Given the description of an element on the screen output the (x, y) to click on. 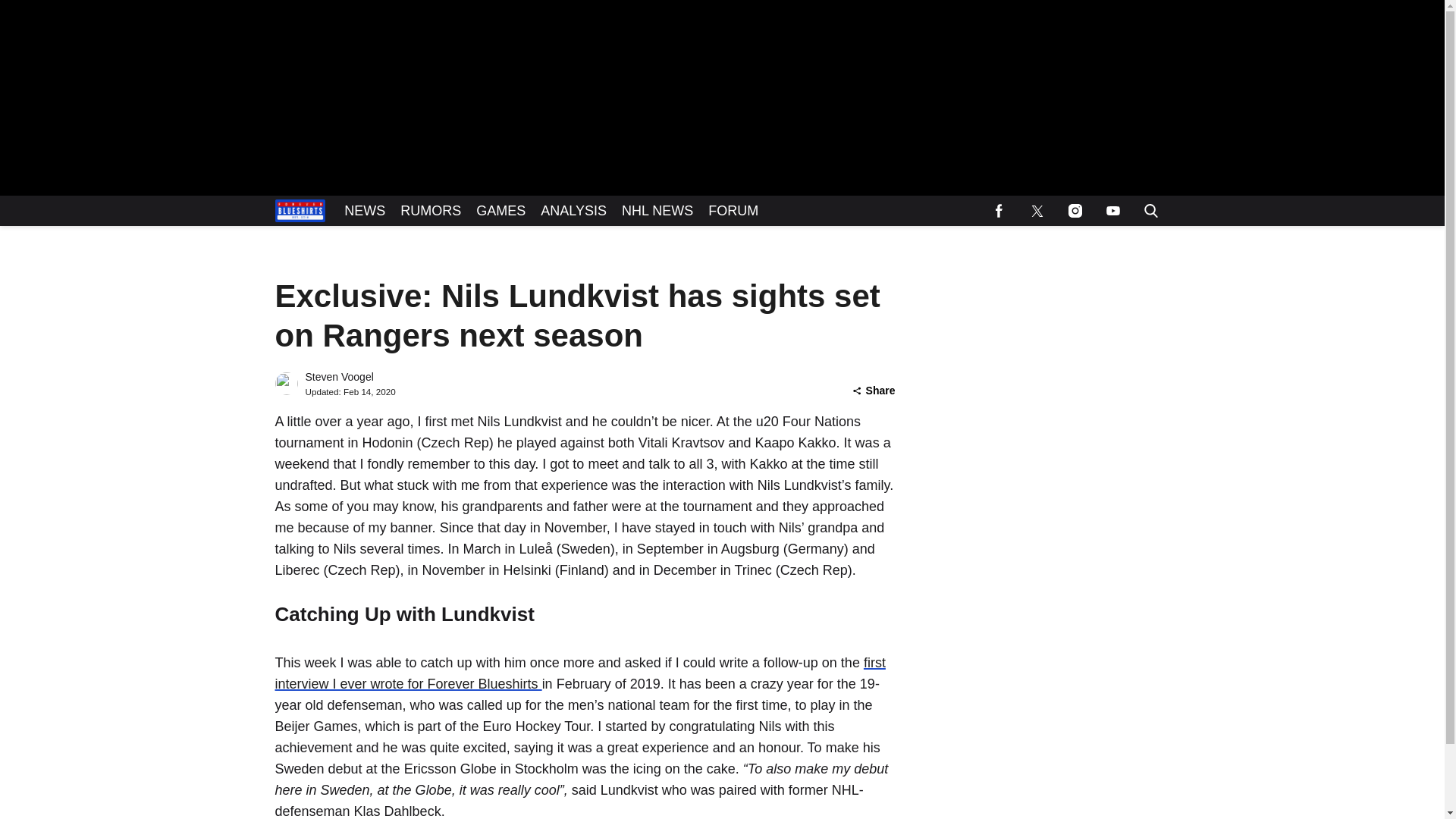
Follow us on Twitter (1036, 210)
NHL NEWS (657, 210)
Follow us on Facebook (998, 210)
Steven Voogel (338, 376)
ANALYSIS (573, 210)
RUMORS (430, 210)
NEWS (364, 210)
Subscribe to our YouTube channel (1112, 210)
Follow us on Instagram (1074, 210)
GAMES (500, 210)
